Given the description of an element on the screen output the (x, y) to click on. 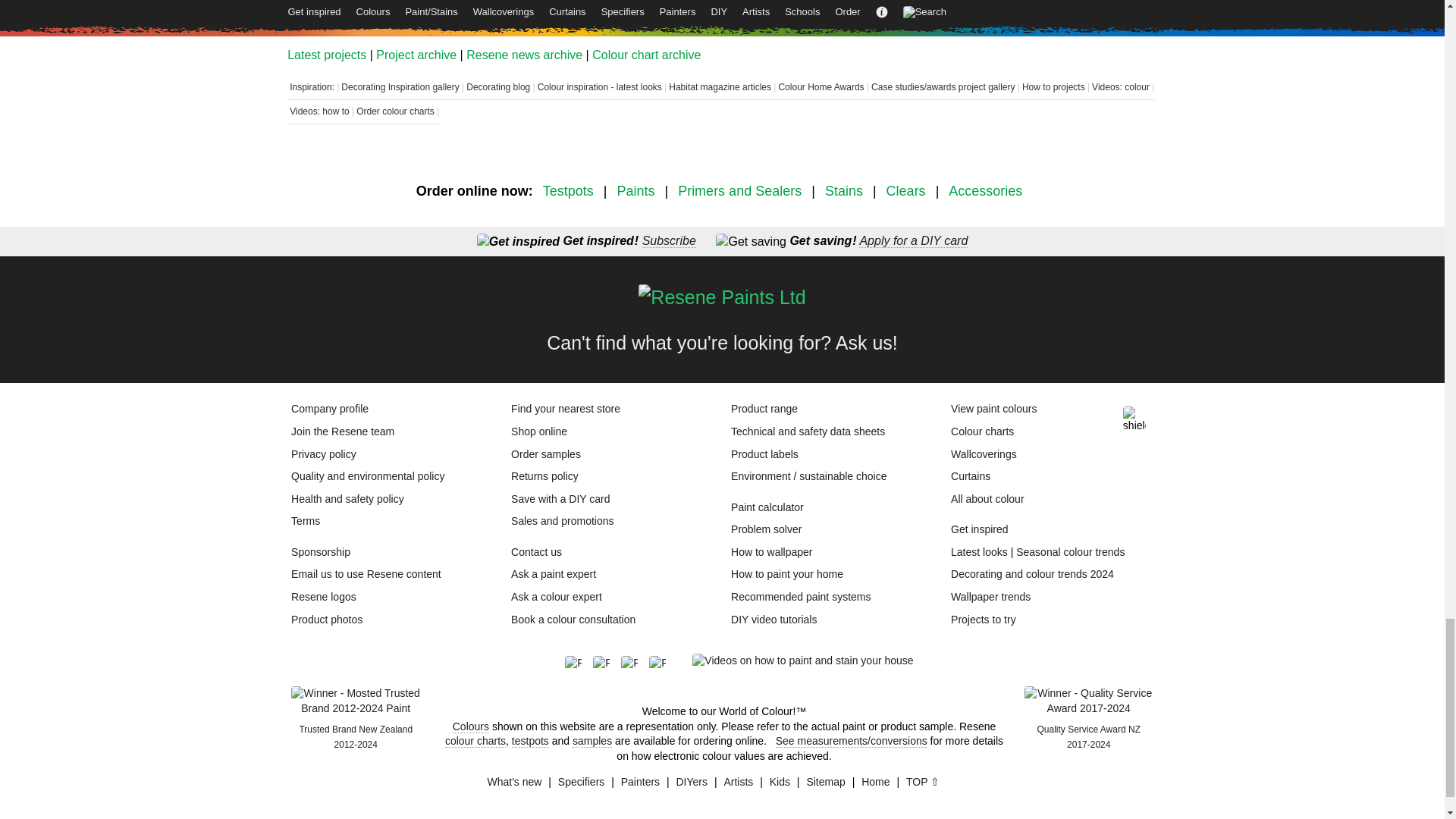
Follow us on Pinterest (606, 664)
Follow us on YouTube (663, 664)
View DIY Videos (802, 661)
Follow us on Facebook (578, 664)
Follow us on Instagram (635, 664)
